Given the description of an element on the screen output the (x, y) to click on. 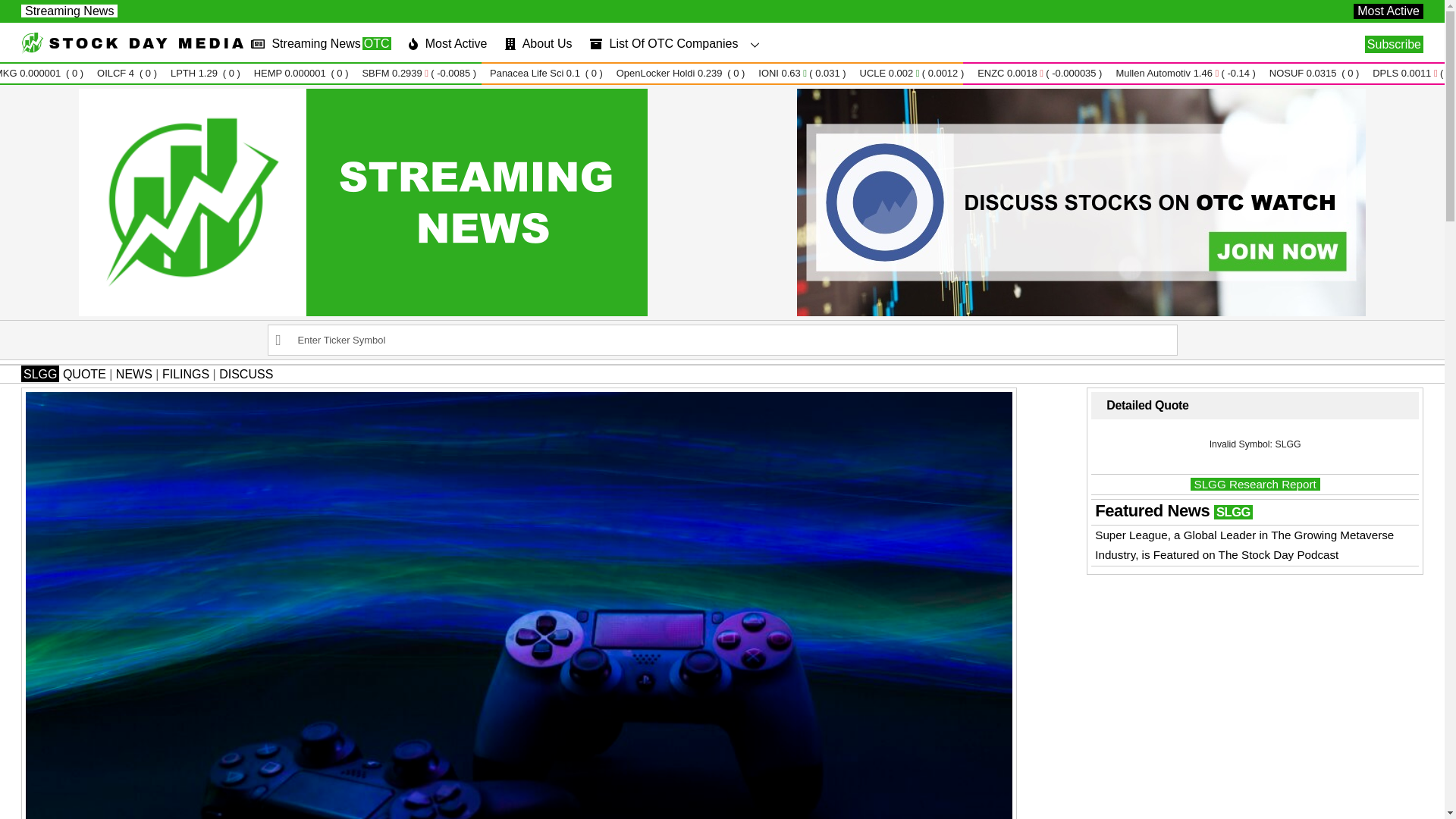
Most Active (1388, 11)
Most Active (448, 43)
List Of OTC Companies (678, 43)
NEWS (833, 44)
Streaming News (134, 373)
Stock Day Media (320, 43)
FILINGS (132, 50)
About Us (185, 373)
QUOTE (538, 43)
SLGG (84, 373)
DISCUSS (40, 373)
Streaming News (246, 373)
Subscribe (69, 10)
